Given the description of an element on the screen output the (x, y) to click on. 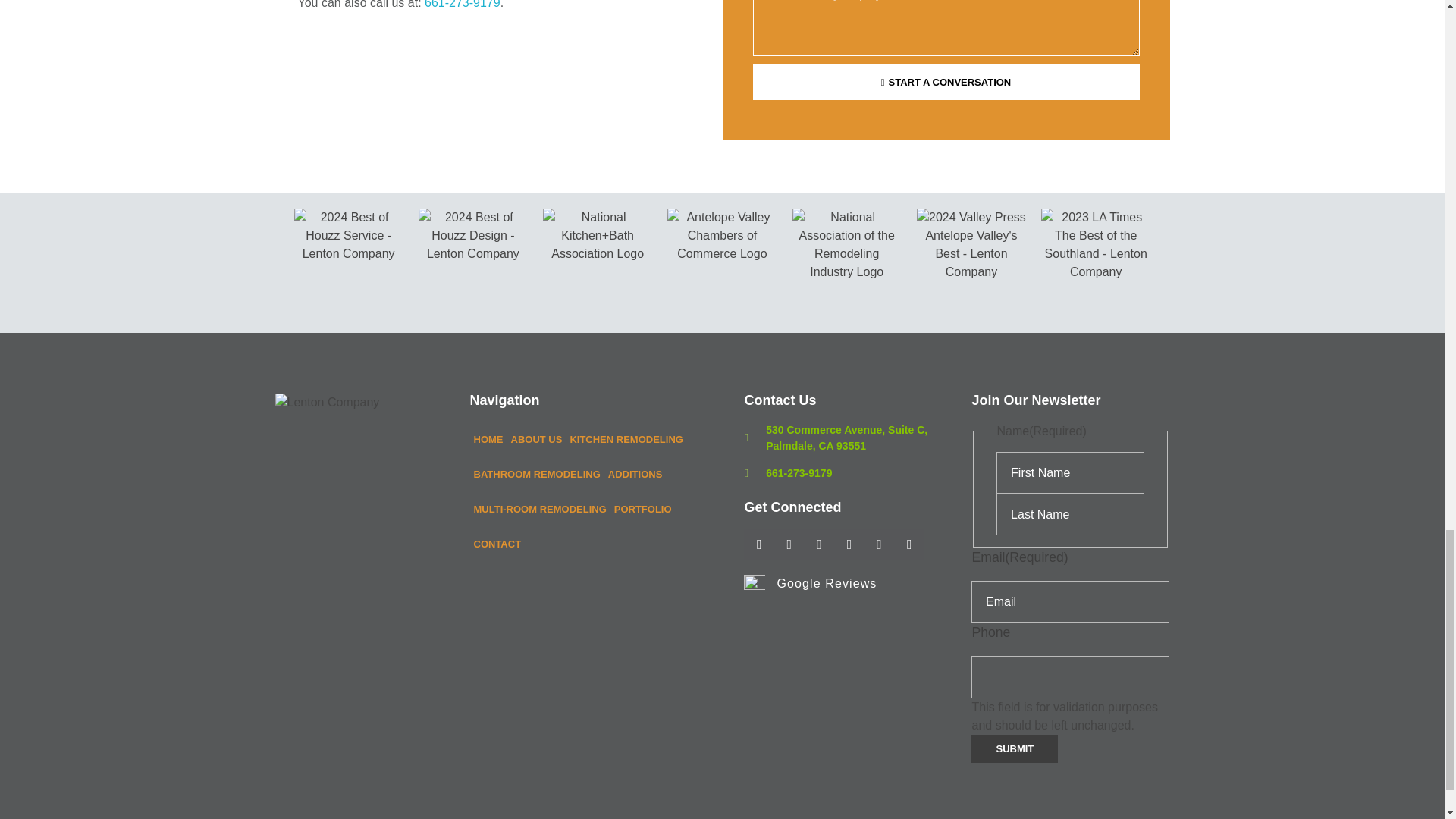
Submit (1014, 748)
661-273-9179 (462, 4)
START A CONVERSATION (945, 81)
